Given the description of an element on the screen output the (x, y) to click on. 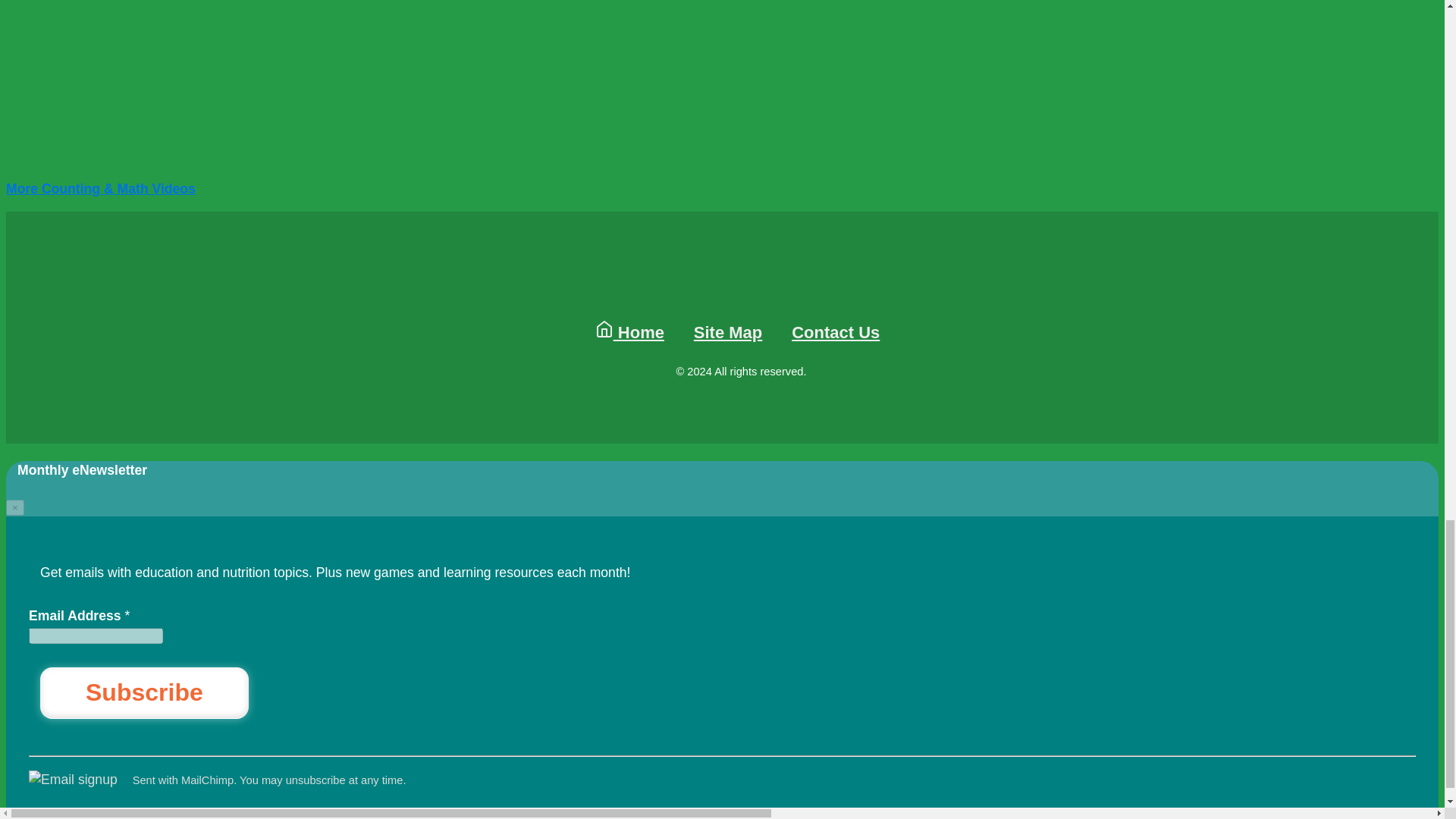
Home (629, 332)
Subscribe (144, 693)
Subscribe (144, 693)
Site Map (727, 332)
Contact Us (835, 332)
